Given the description of an element on the screen output the (x, y) to click on. 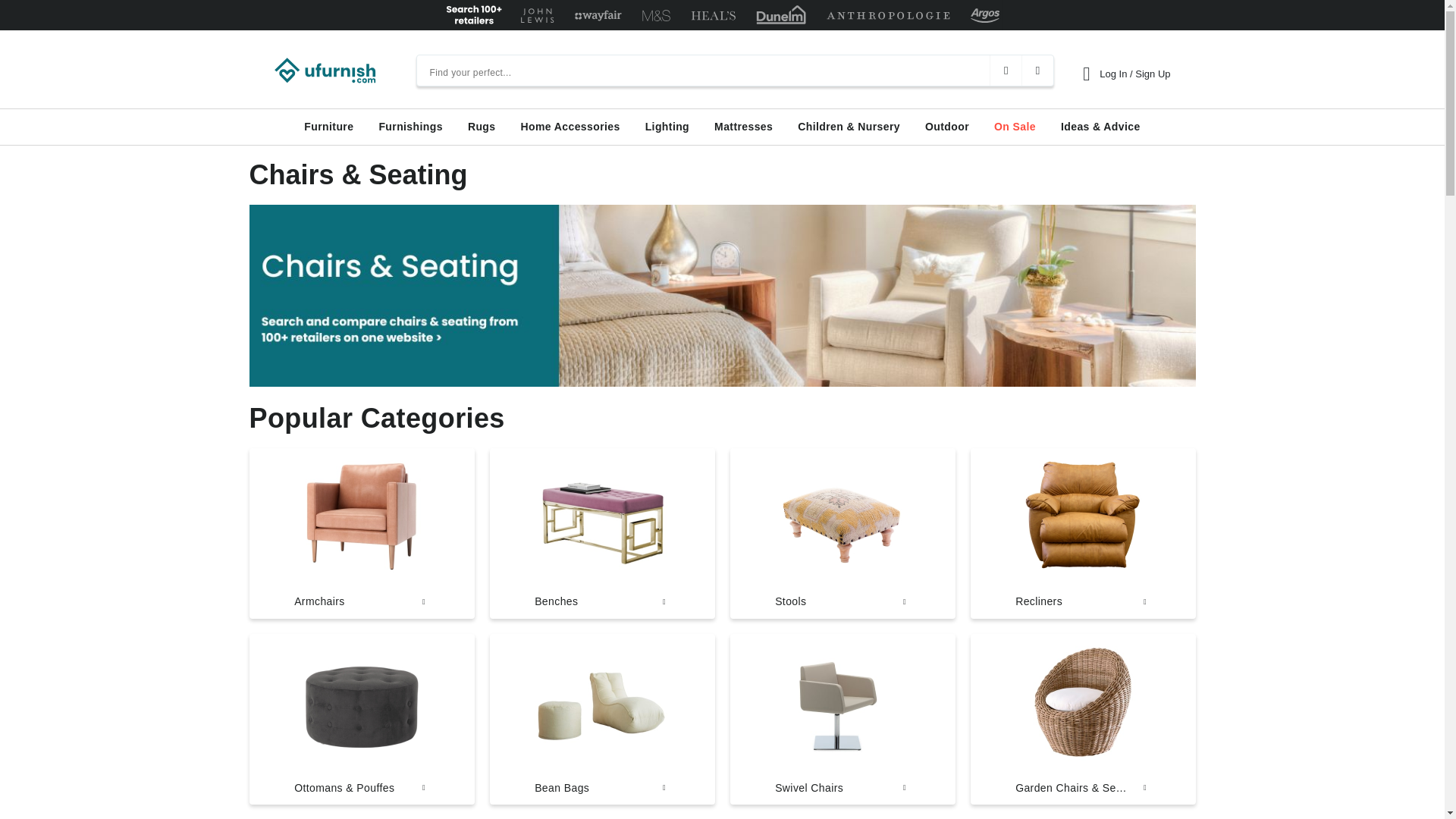
Furniture (329, 126)
